Given the description of an element on the screen output the (x, y) to click on. 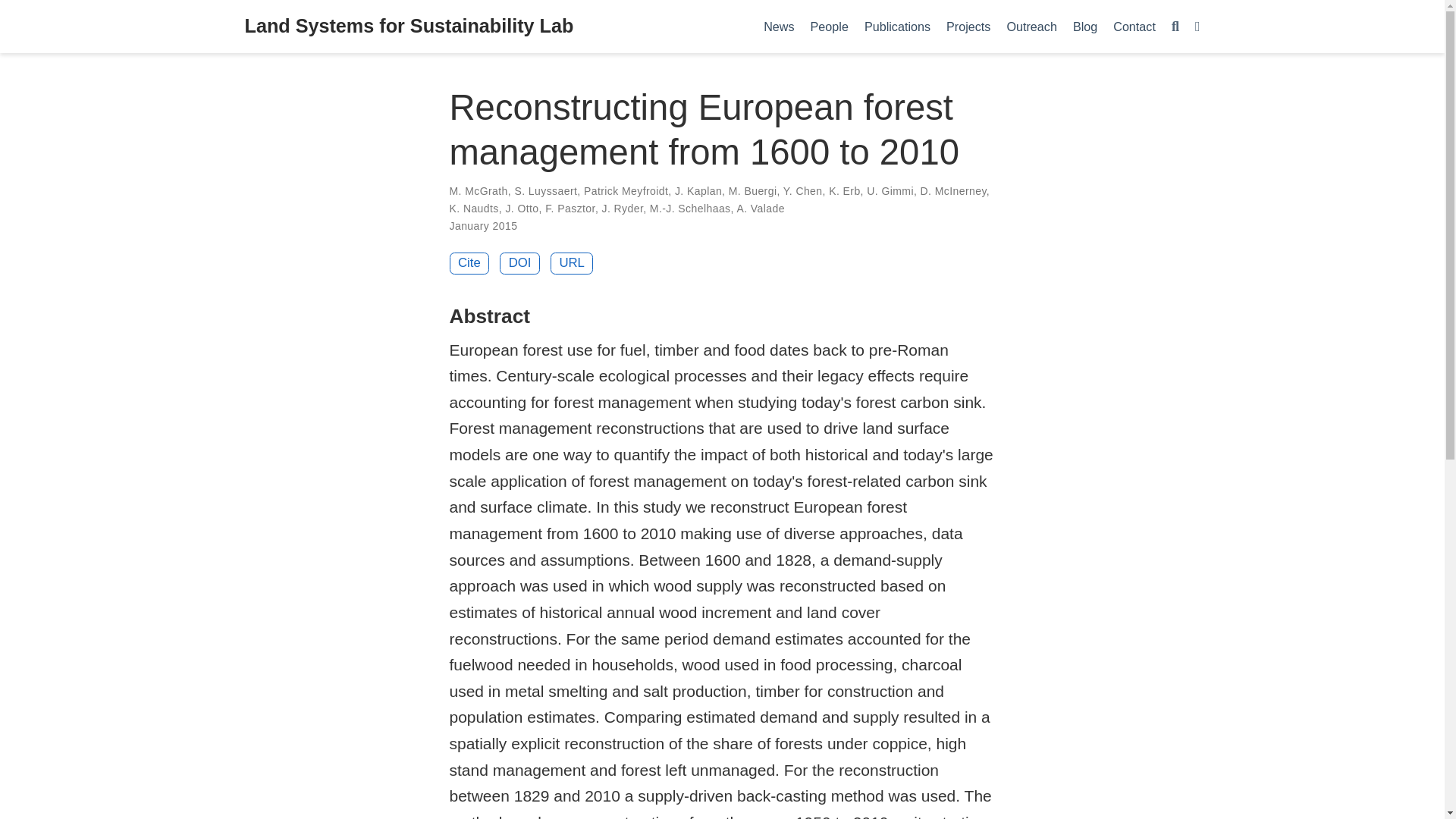
J. Otto (521, 208)
Land Systems for Sustainability Lab (408, 26)
URL (572, 263)
Projects (968, 25)
Patrick Meyfroidt (625, 191)
People (829, 25)
S. Luyssaert (544, 191)
D. McInerney (953, 191)
M. McGrath (477, 191)
J. Ryder (622, 208)
J. Kaplan (698, 191)
Blog (1084, 25)
Y. Chen (802, 191)
K. Naudts (472, 208)
Cite (468, 263)
